Given the description of an element on the screen output the (x, y) to click on. 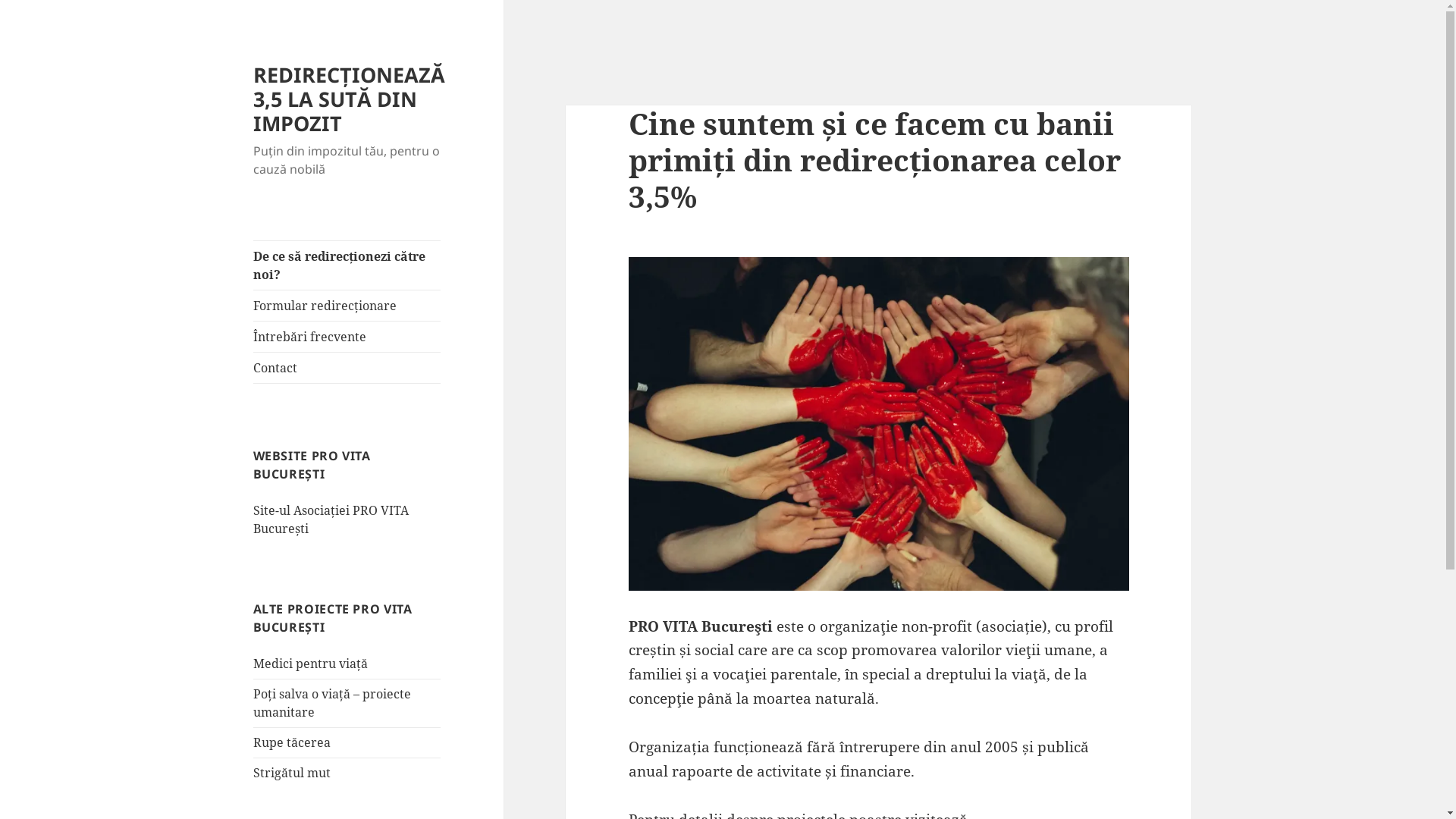
Contact Element type: text (347, 367)
